Given the description of an element on the screen output the (x, y) to click on. 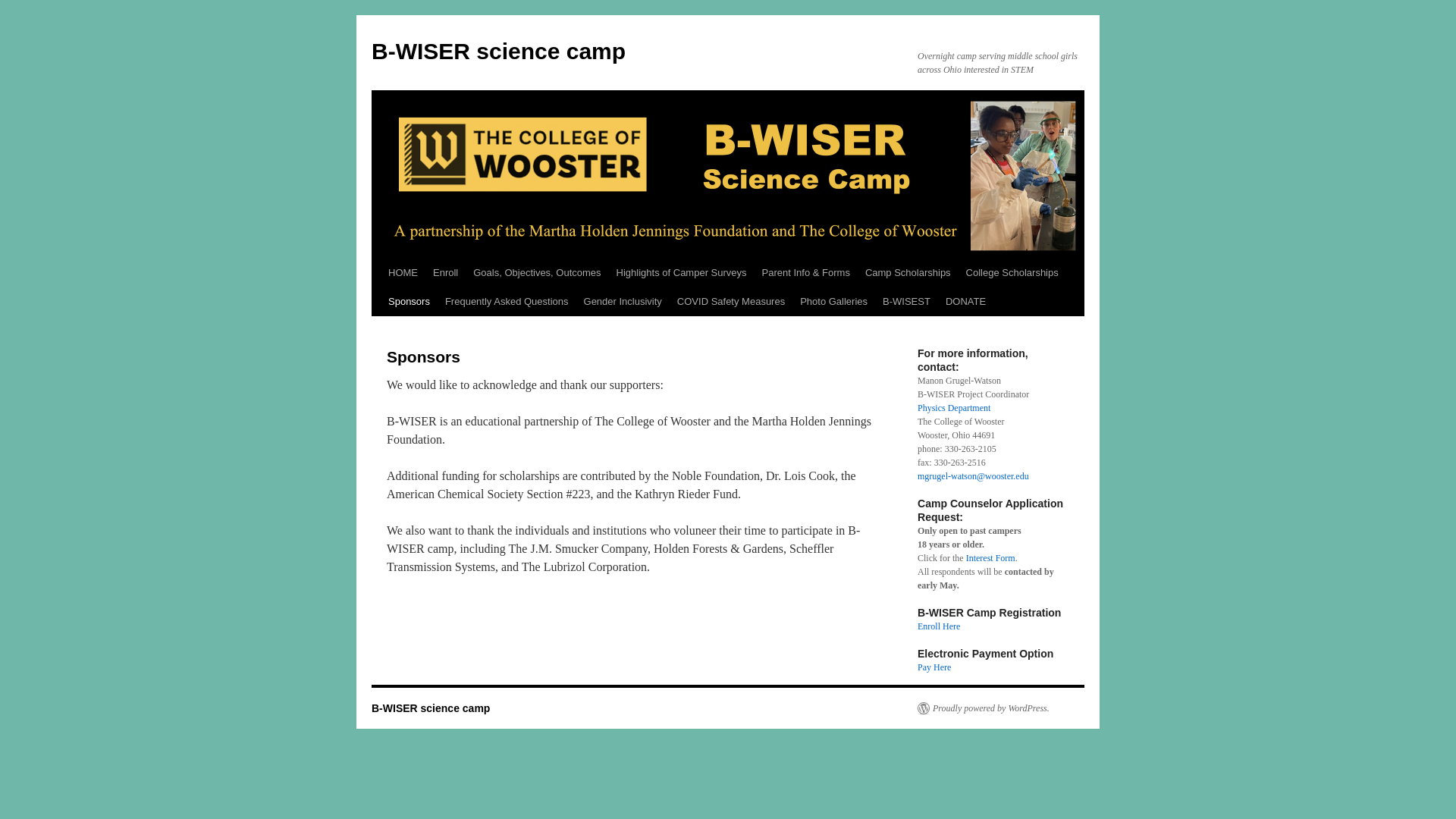
B-WISEST (906, 301)
Enroll Here (938, 625)
COVID Safety Measures (730, 301)
Pay Here (933, 666)
Camp Scholarships (907, 272)
Sponsors (409, 301)
Frequently Asked Questions (507, 301)
Interest Form (990, 557)
College Scholarships (1011, 272)
Gender Inclusivity (622, 301)
mgrugel-watson (946, 475)
Goals, Objectives, Outcomes (536, 272)
Highlights of Camper Surveys (681, 272)
Enroll (445, 272)
B-WISER science camp (498, 50)
